Given the description of an element on the screen output the (x, y) to click on. 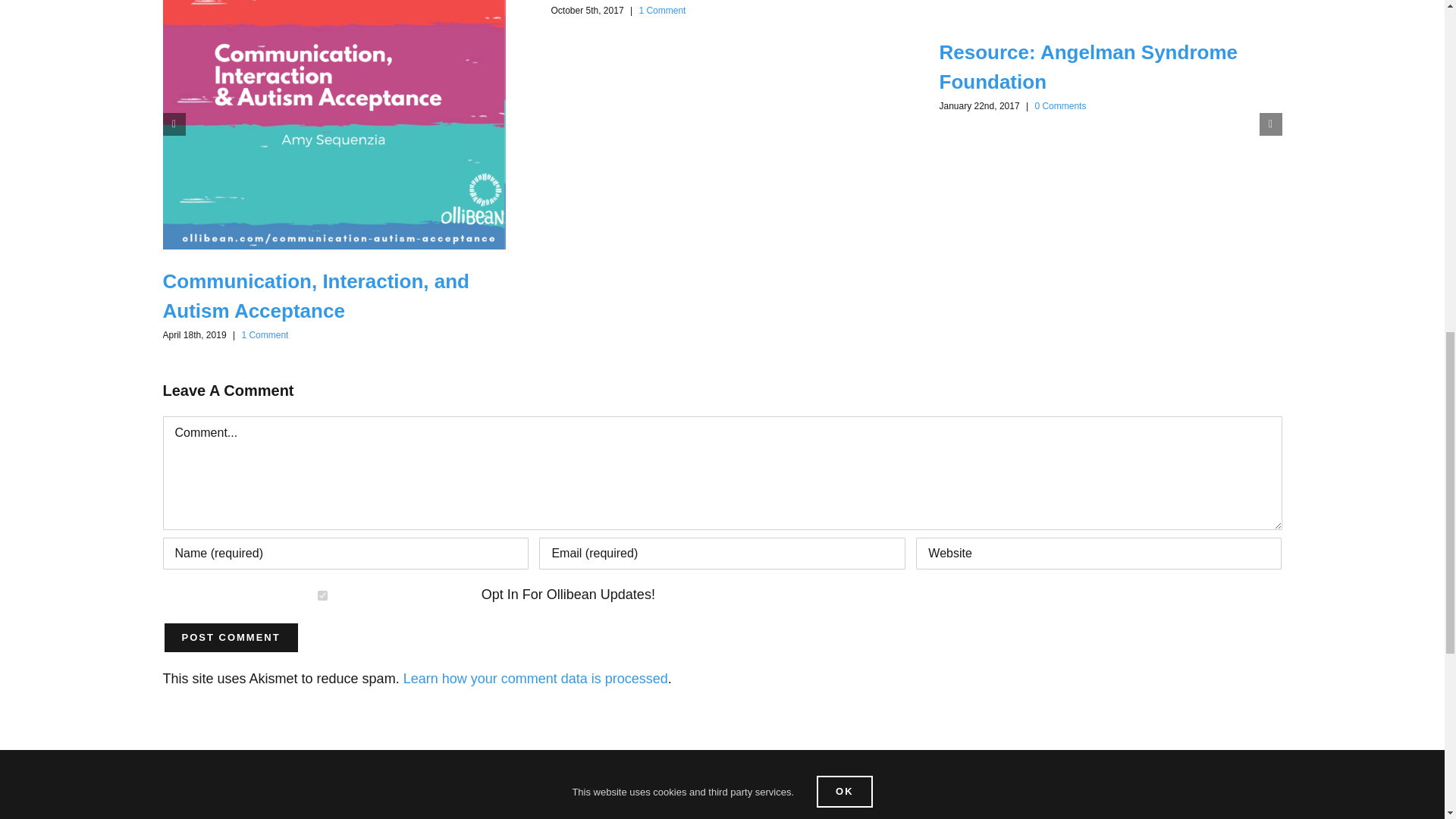
Resource: Angelman Syndrome Foundation (1087, 66)
1 (322, 595)
Communication, Interaction, and Autism Acceptance (314, 296)
Post Comment (229, 637)
